Given the description of an element on the screen output the (x, y) to click on. 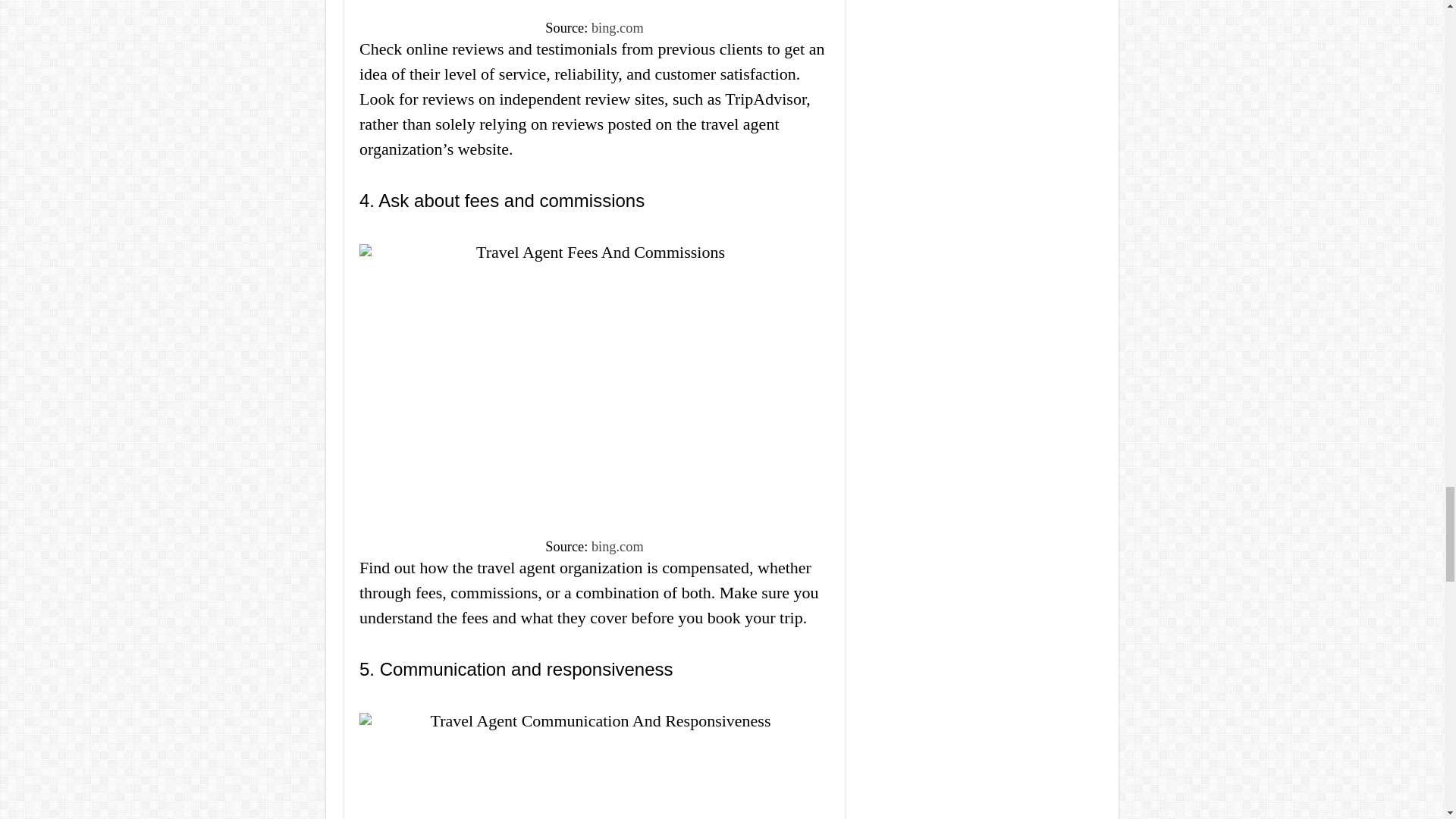
bing.com (617, 546)
bing.com (617, 28)
